Given the description of an element on the screen output the (x, y) to click on. 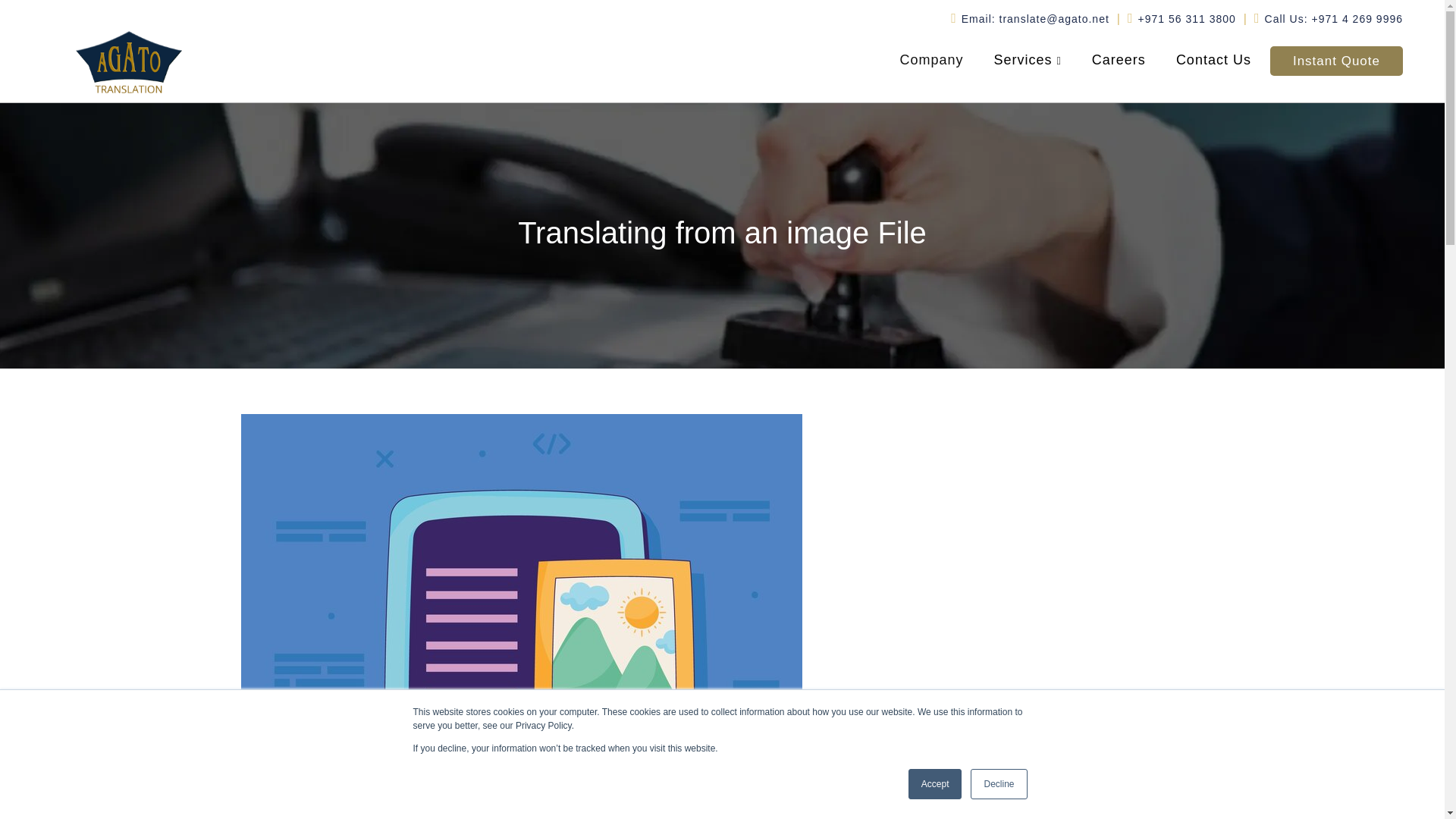
Contact Us (1213, 61)
Instant Quote (1336, 60)
Careers (1118, 61)
Company (931, 61)
Accept (935, 784)
Decline (998, 784)
Services (1027, 61)
